Given the description of an element on the screen output the (x, y) to click on. 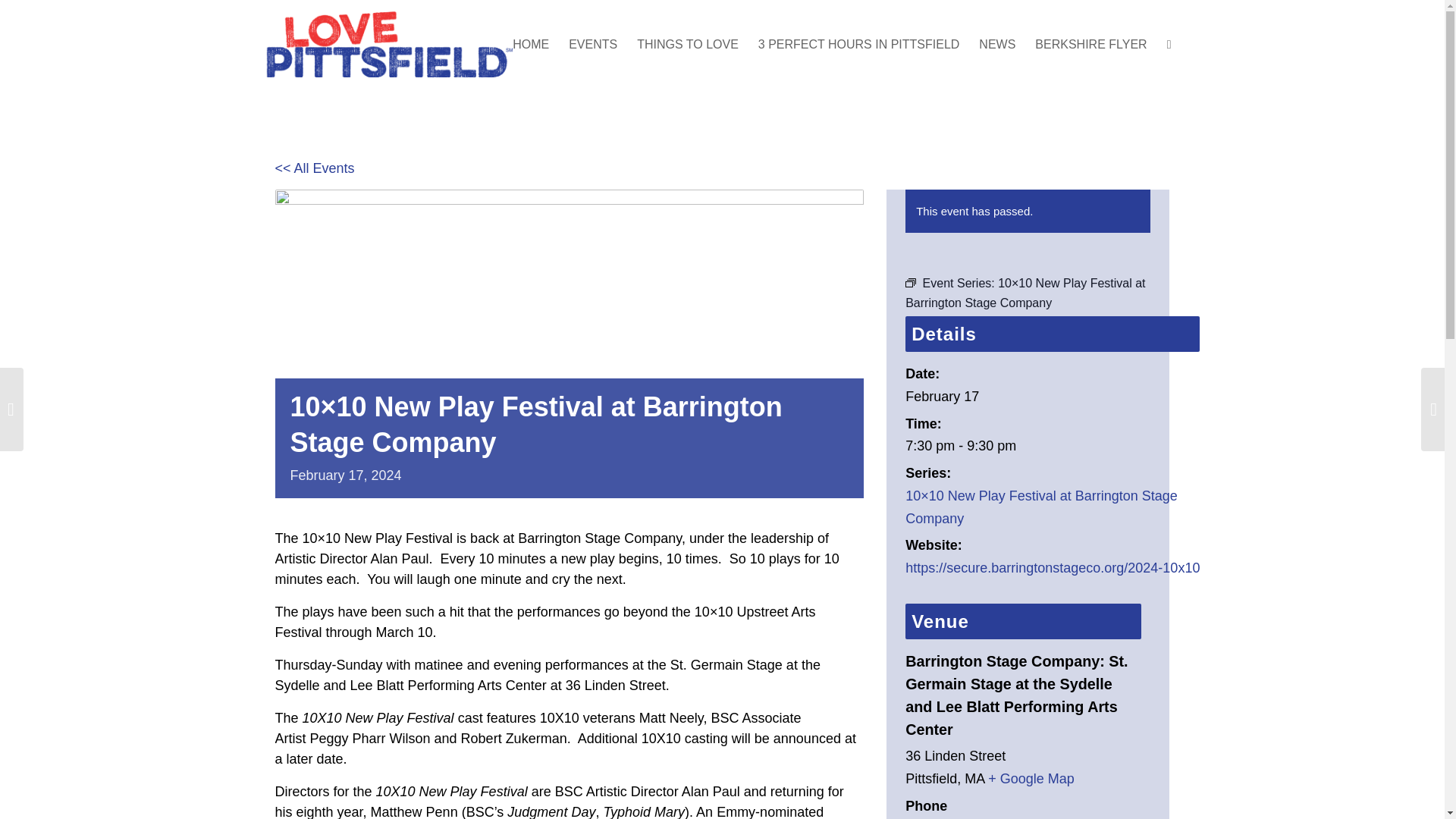
Event Series (910, 282)
Click to view a Google Map (1031, 778)
Massachusetts (973, 778)
2024-02-17 (1052, 445)
NEWS (997, 44)
THINGS TO LOVE (687, 44)
LP-logo-SM-FINAL (388, 44)
2024-02-17 (941, 396)
BERKSHIRE FLYER (1090, 44)
3 PERFECT HOURS IN PITTSFIELD (858, 44)
HOME (530, 44)
EVENTS (593, 44)
Event Series: (910, 283)
